Given the description of an element on the screen output the (x, y) to click on. 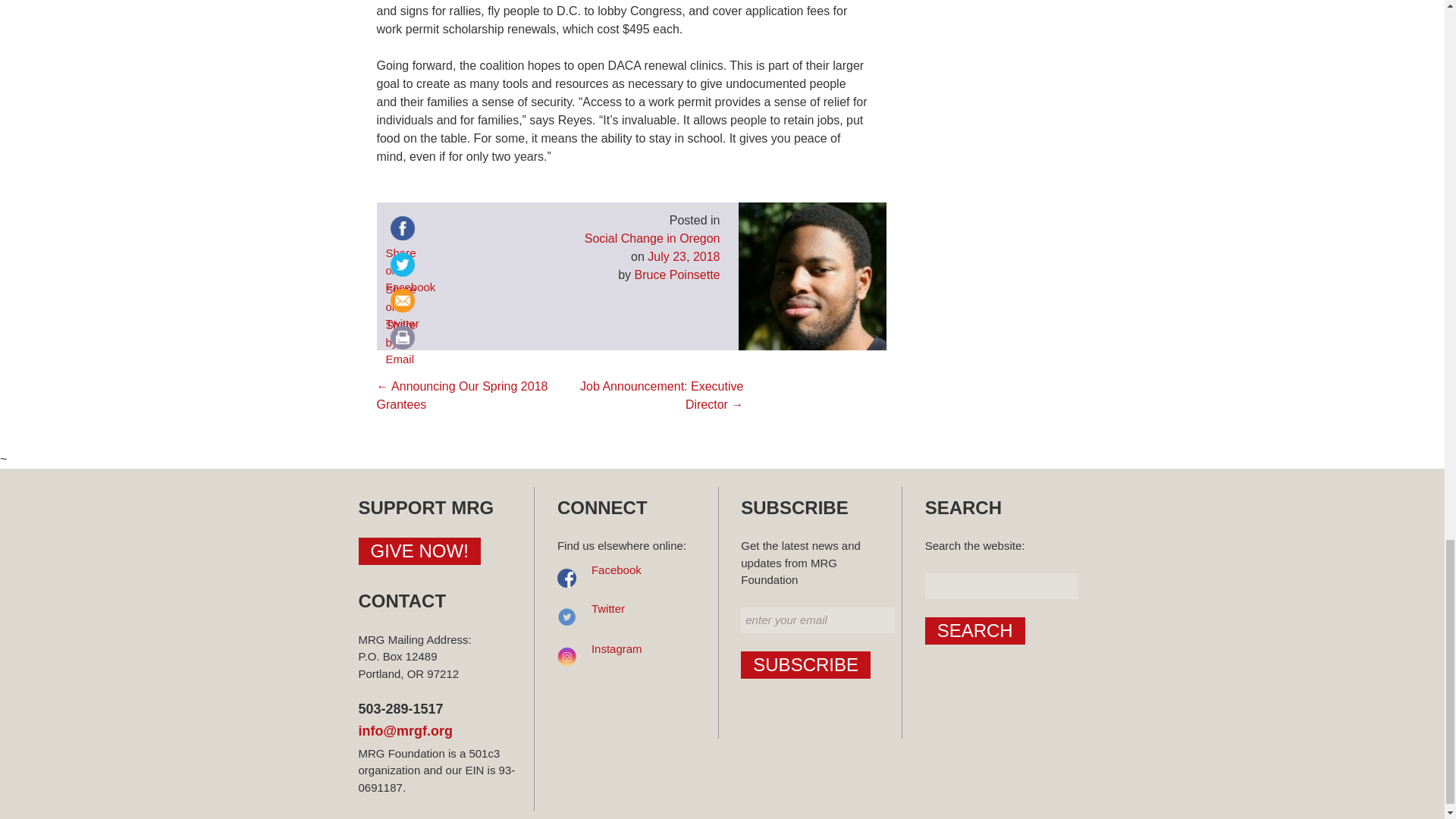
July 23, 2018 (683, 256)
Search (974, 630)
facebook (402, 227)
print (402, 337)
Bruce Poinsette (677, 274)
enter your email (818, 620)
View all posts by Bruce Poinsette (677, 274)
email (402, 300)
Subscribe (805, 664)
twitter (402, 264)
Search (974, 630)
Social Change in Oregon (652, 237)
